Given the description of an element on the screen output the (x, y) to click on. 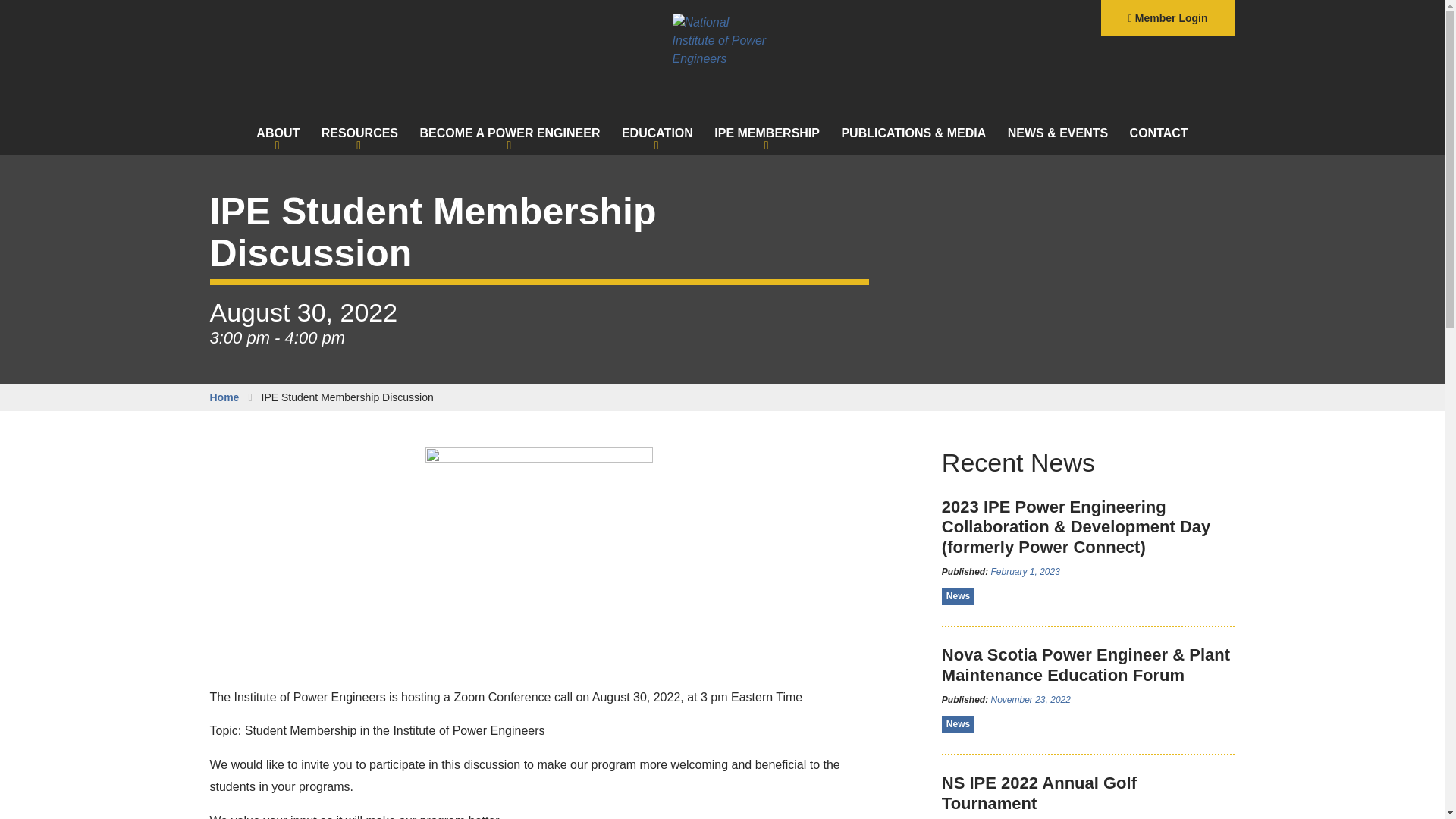
IPE MEMBERSHIP (766, 133)
ABOUT (277, 133)
NIPE Home (721, 40)
Member Login (1167, 18)
BECOME A POWER ENGINEER (510, 133)
RESOURCES (360, 133)
EDUCATION (656, 133)
